Given the description of an element on the screen output the (x, y) to click on. 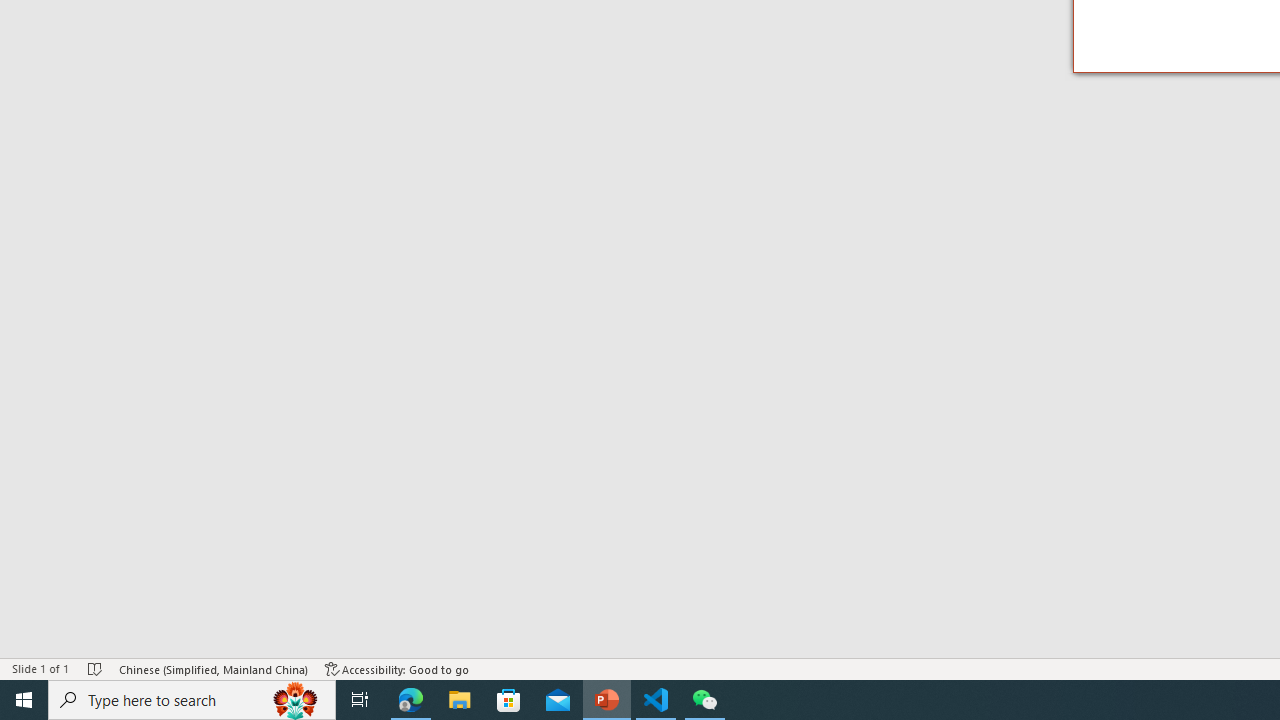
Visual Studio Code - 1 running window (656, 699)
Search highlights icon opens search home window (295, 699)
File Explorer (460, 699)
Accessibility Checker Accessibility: Good to go (397, 668)
Microsoft Store (509, 699)
Type here to search (191, 699)
Task View (359, 699)
PowerPoint - 1 running window (607, 699)
WeChat - 1 running window (704, 699)
Microsoft Edge - 1 running window (411, 699)
